Given the description of an element on the screen output the (x, y) to click on. 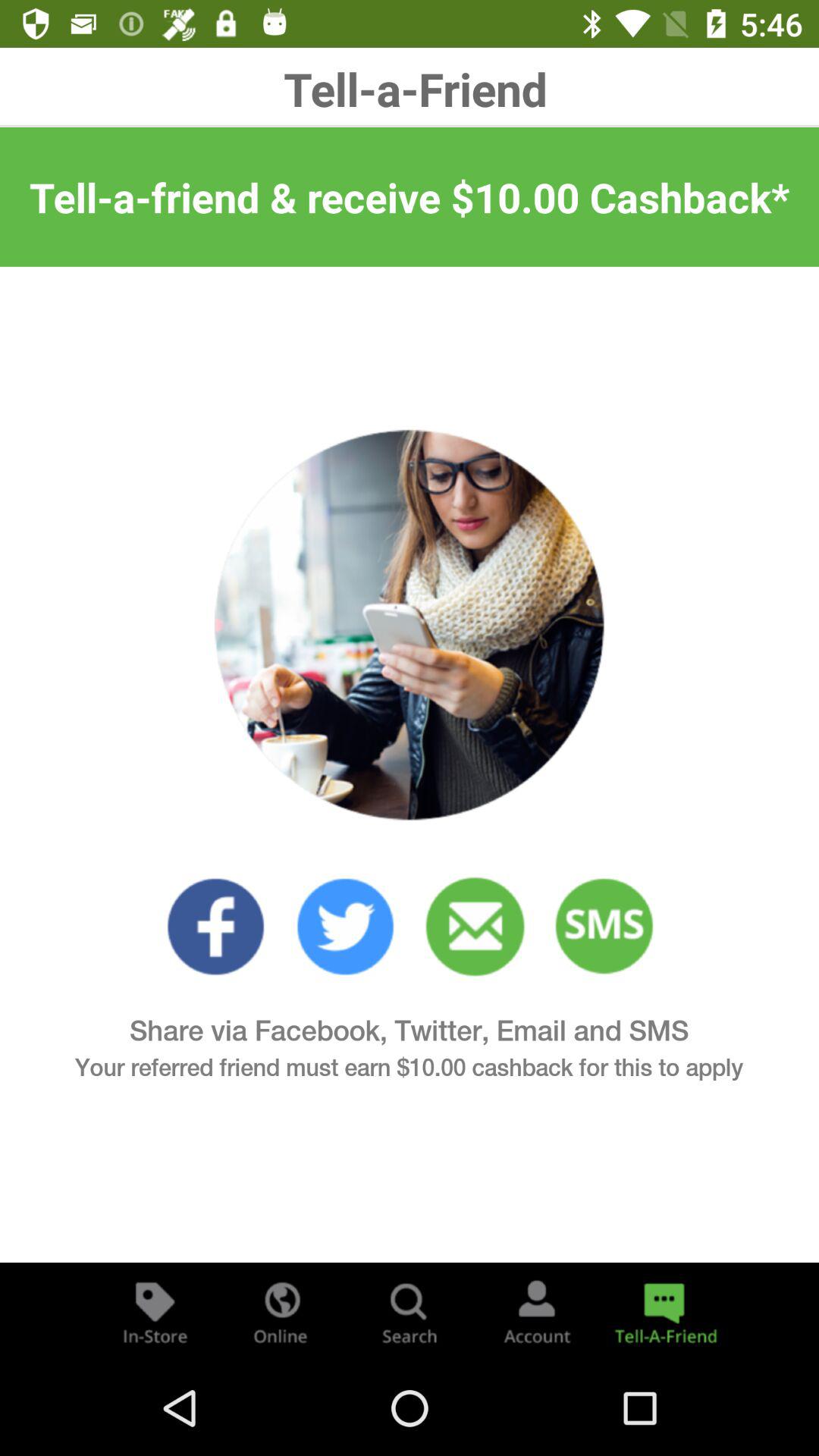
click the button (154, 1311)
